Given the description of an element on the screen output the (x, y) to click on. 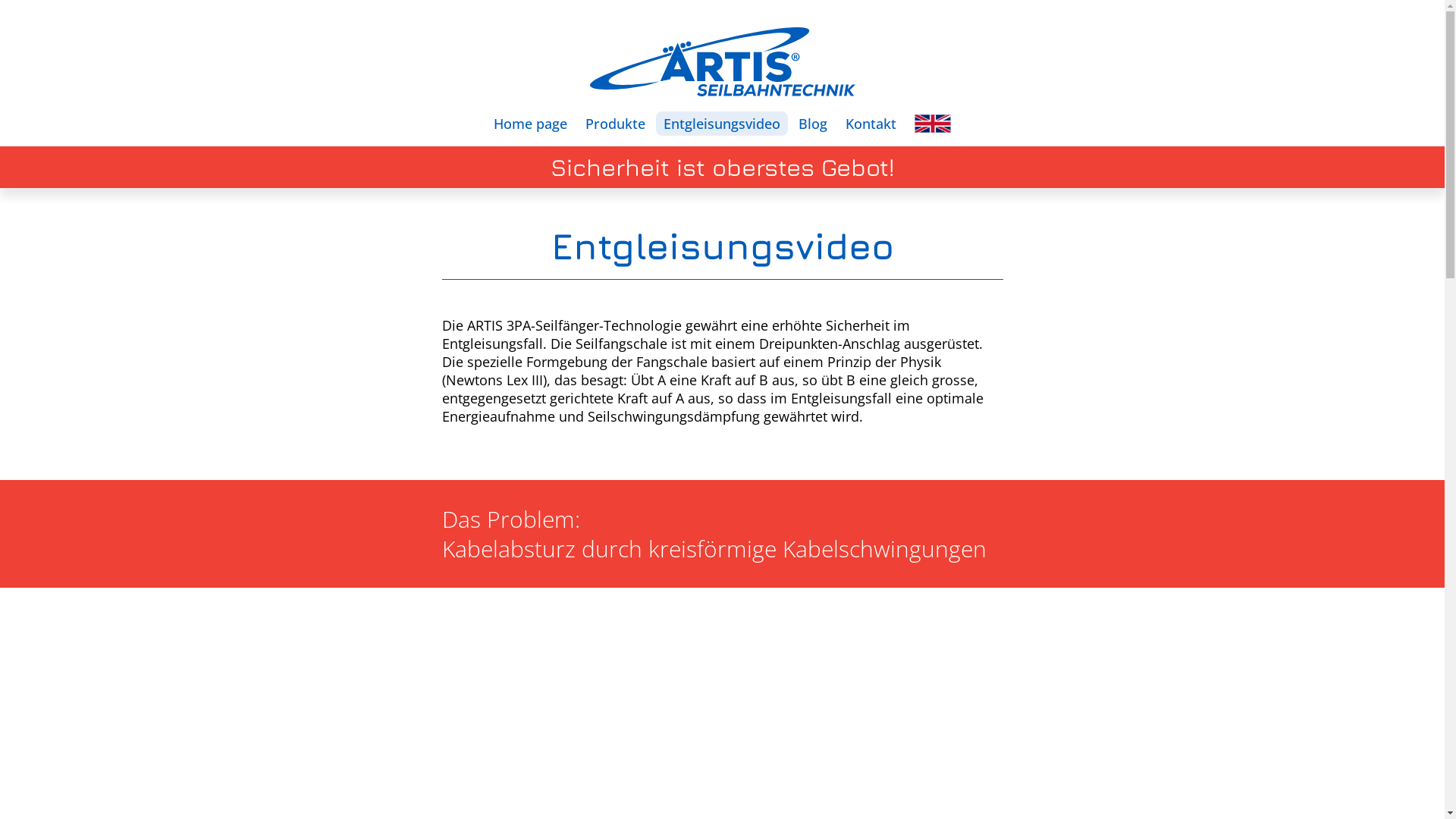
Kontakt Element type: text (870, 123)
Home page Element type: text (530, 123)
Blog Element type: text (812, 123)
Produkte Element type: text (615, 123)
ARTIS-Seilbahntechnik Element type: text (722, 61)
Entgleisungsvideo Element type: text (721, 123)
English Element type: text (932, 123)
